Given the description of an element on the screen output the (x, y) to click on. 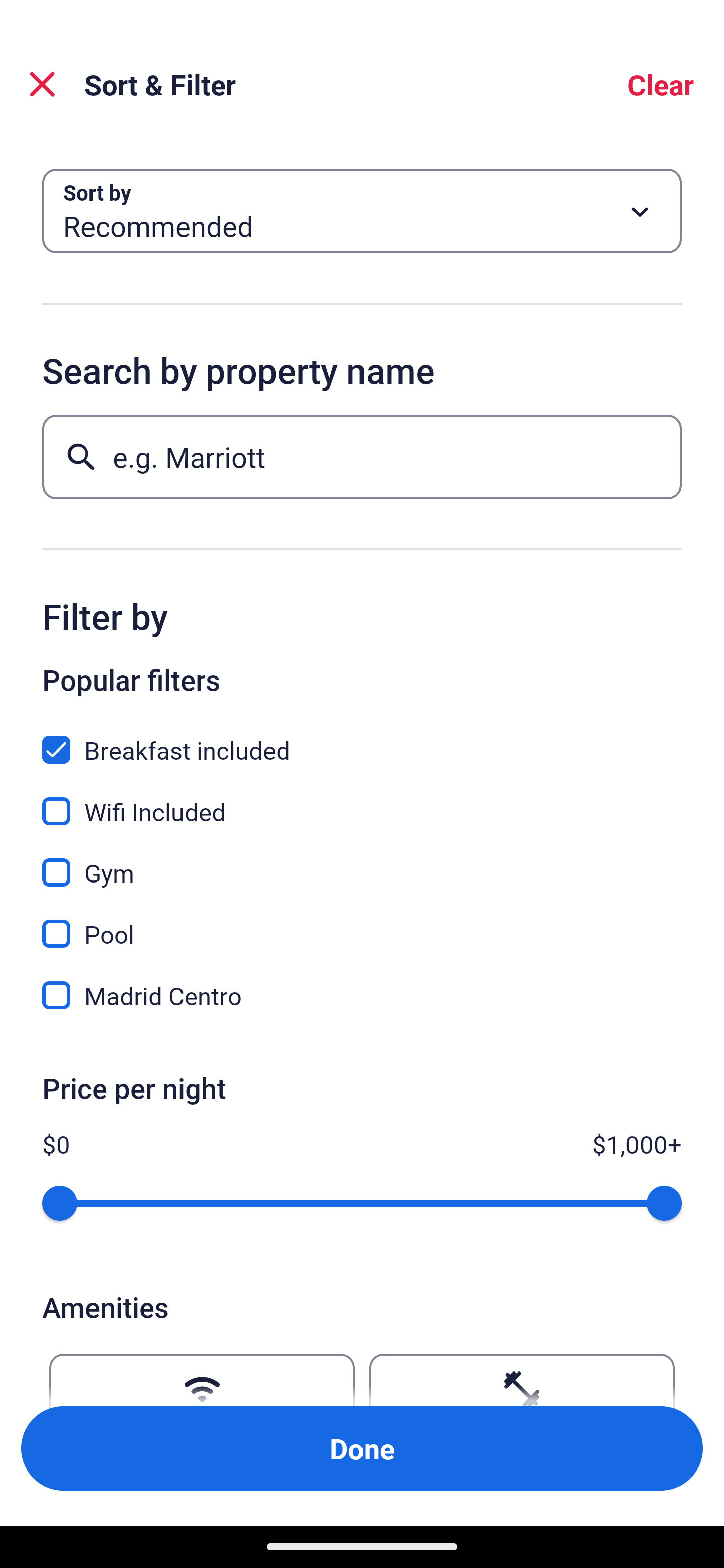
Close Sort and Filter (42, 84)
Clear (660, 84)
Sort by Button Recommended (361, 211)
e.g. Marriott Button (361, 455)
Breakfast included, Breakfast included (361, 738)
Wifi Included, Wifi Included (361, 800)
Gym, Gym (361, 861)
Pool, Pool (361, 922)
Madrid Centro, Madrid Centro (361, 995)
Apply and close Sort and Filter Done (361, 1448)
